Given the description of an element on the screen output the (x, y) to click on. 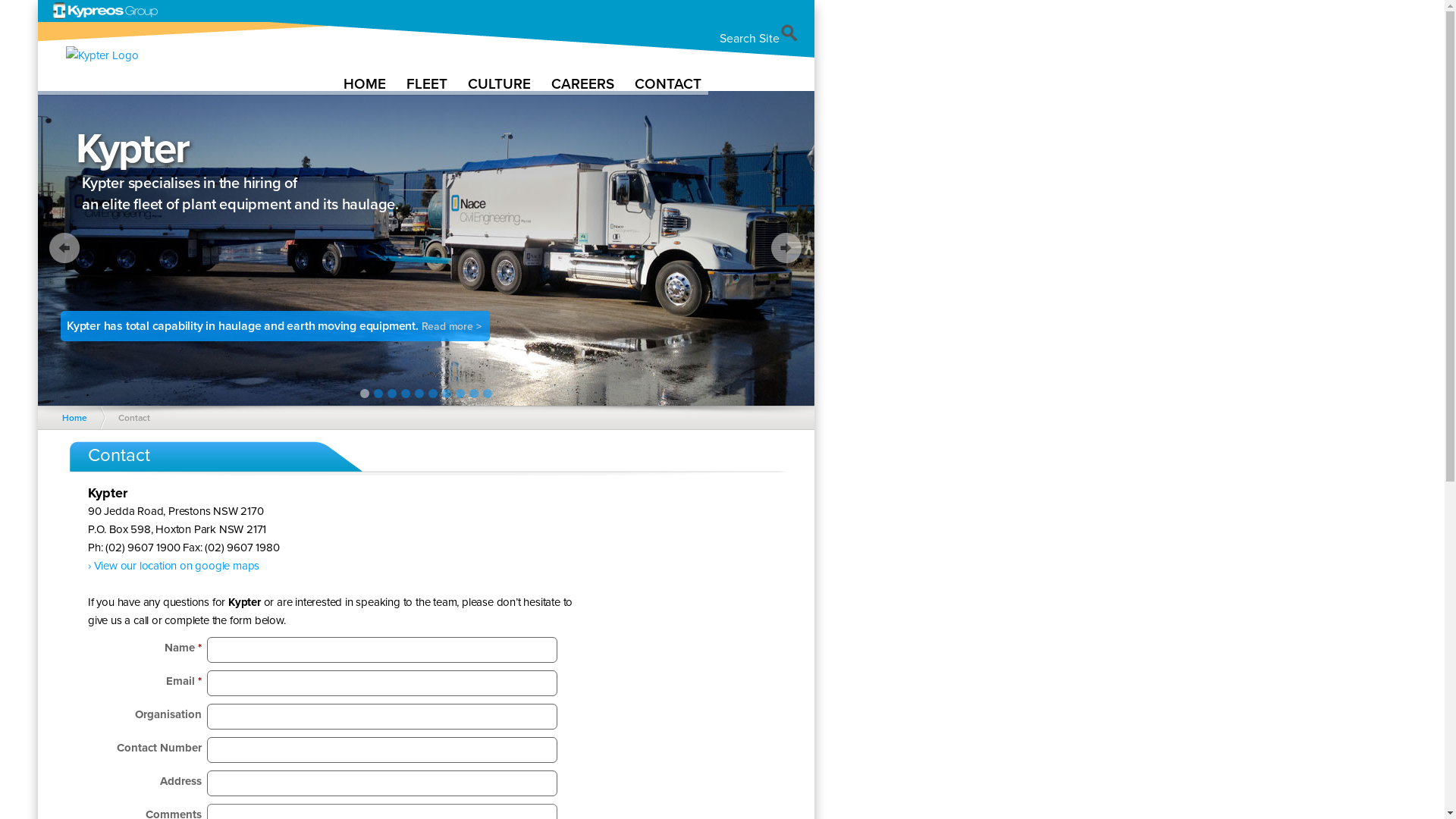
Home Element type: text (78, 417)
CONTACT Element type: text (668, 83)
CAREERS Element type: text (583, 83)
HOME Element type: text (365, 83)
FLEET Element type: text (427, 83)
Read more >  Element type: text (452, 326)
Search Site Element type: text (758, 38)
CULTURE Element type: text (500, 83)
